Given the description of an element on the screen output the (x, y) to click on. 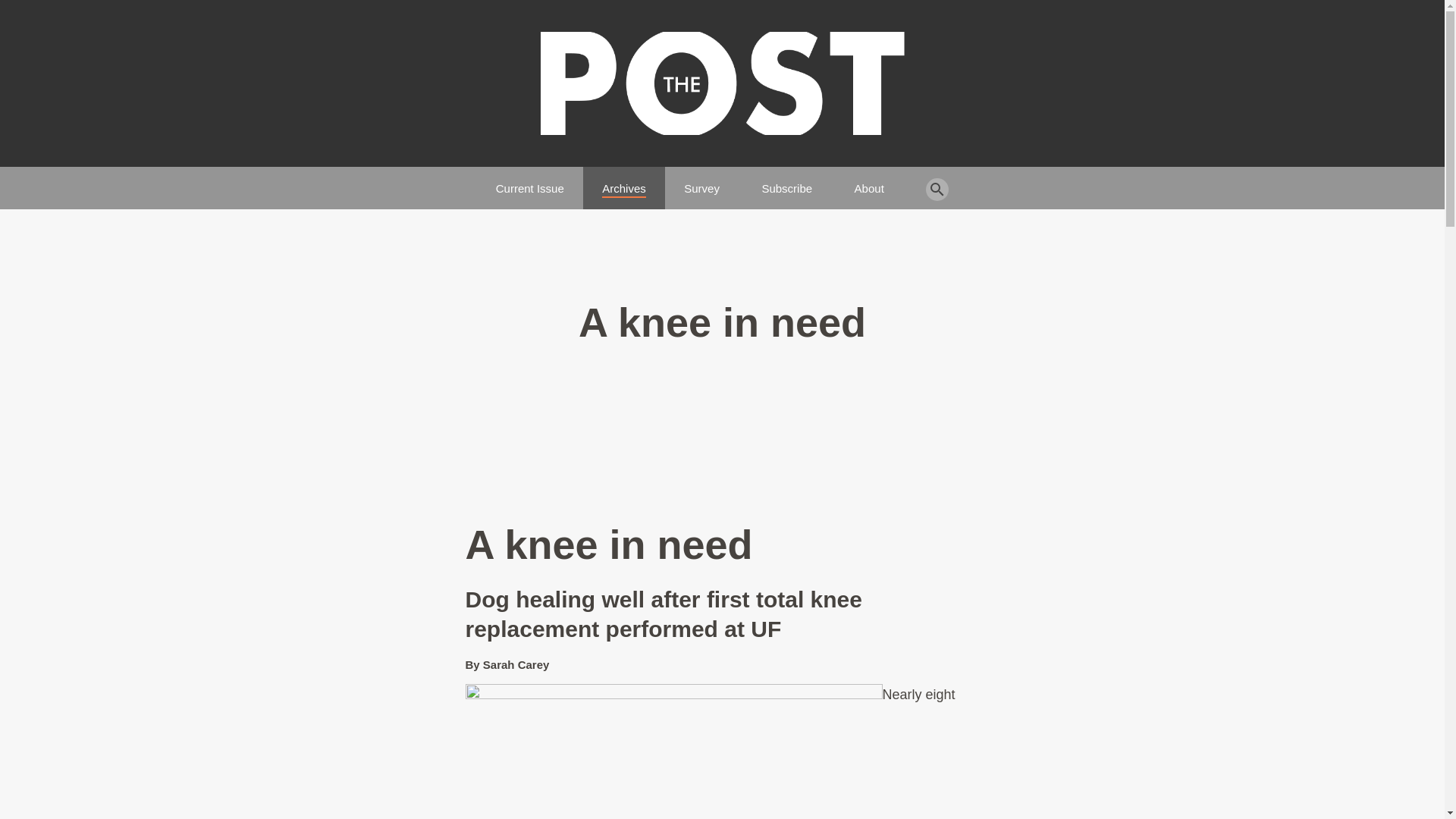
Current Issue (530, 182)
Subscribe (786, 182)
Archives (624, 182)
About (868, 182)
The POST - Home (722, 83)
Survey (701, 182)
